Given the description of an element on the screen output the (x, y) to click on. 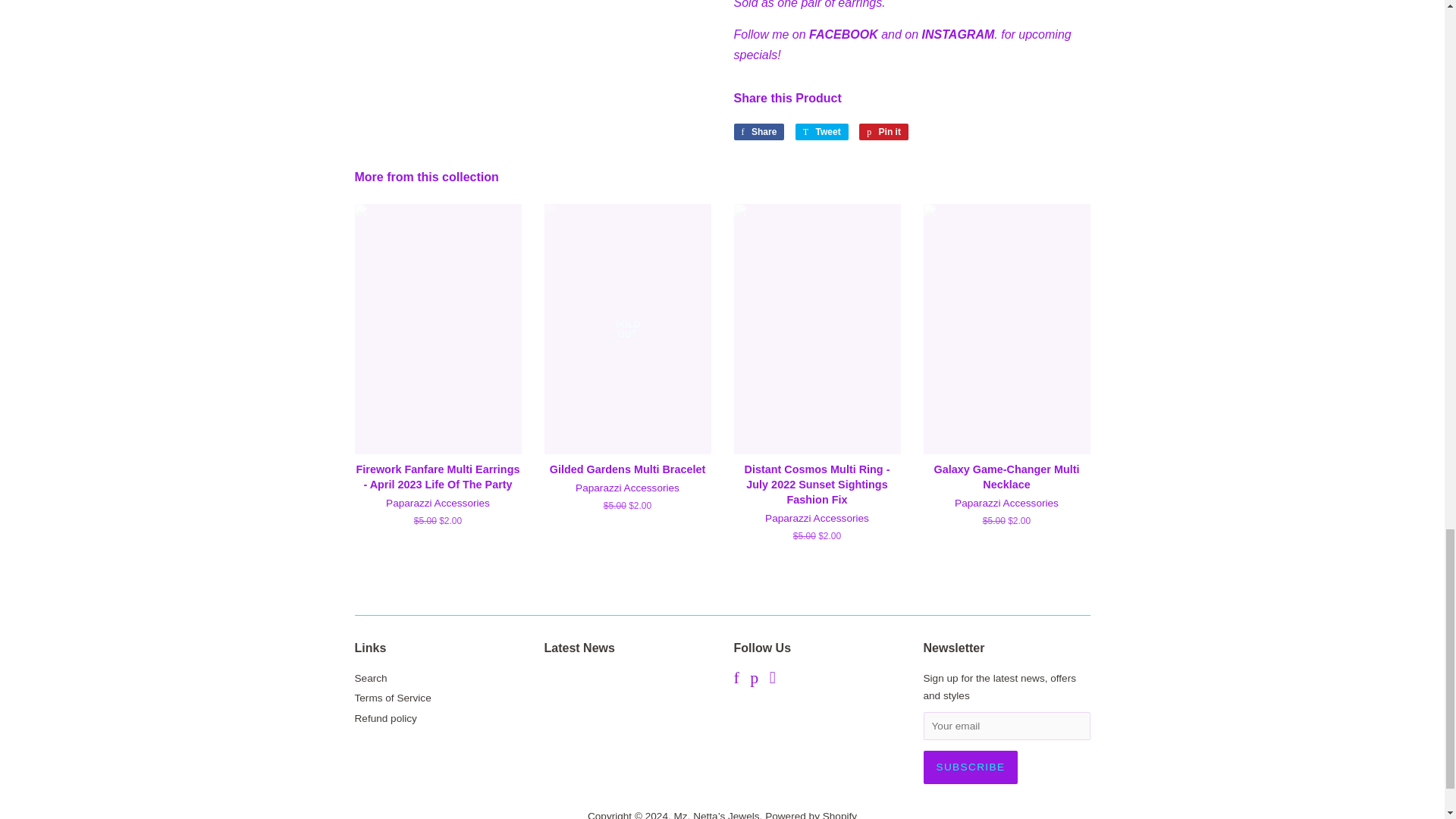
Pin on Pinterest (883, 131)
Subscribe (970, 767)
Share on Facebook (758, 131)
Tweet on Twitter (821, 131)
